Given the description of an element on the screen output the (x, y) to click on. 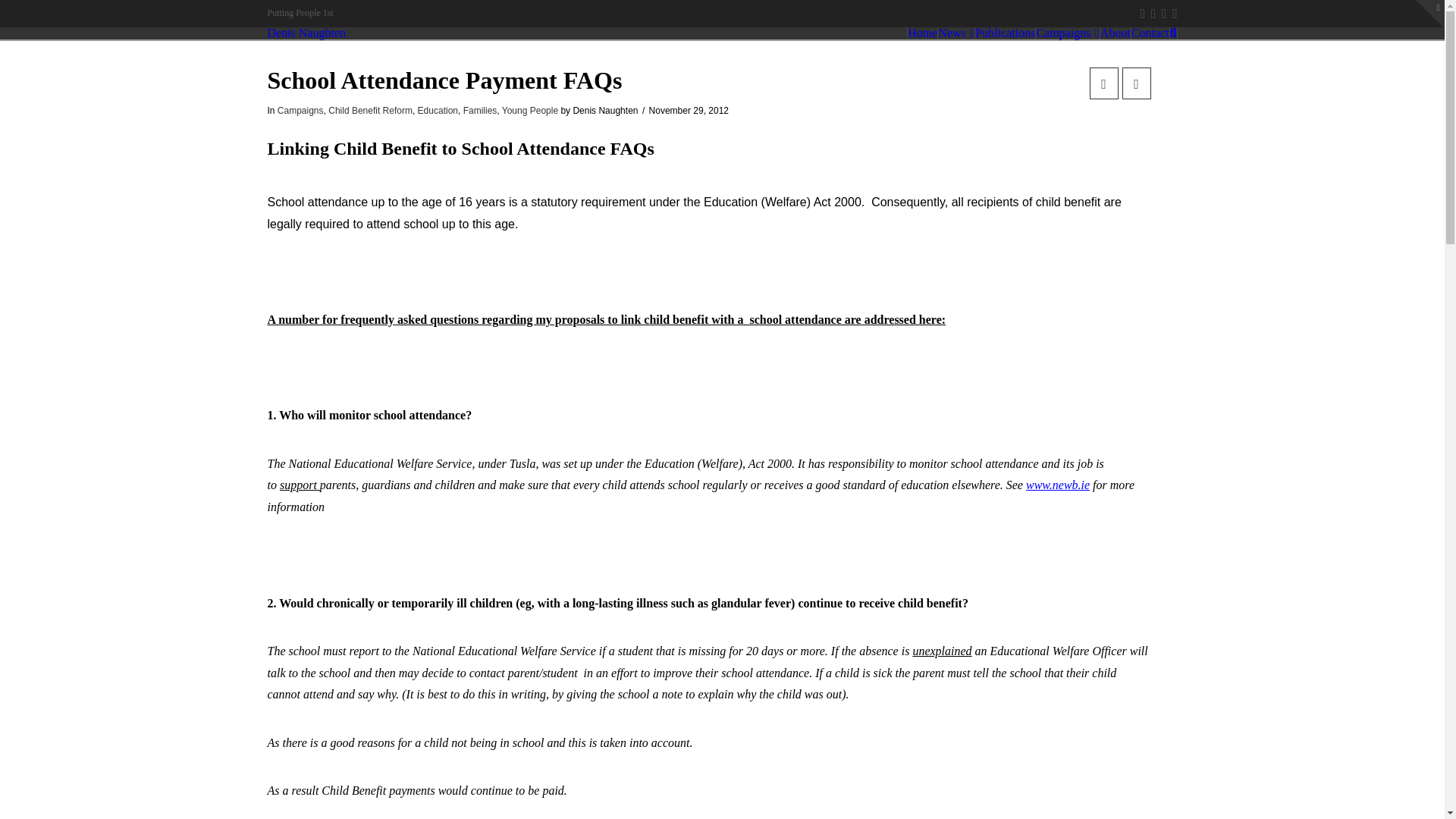
Campaigns (1067, 33)
About (1115, 33)
Publications (1005, 33)
News (956, 33)
www.DenisNaughten.ie (306, 33)
Denis Naughten (306, 33)
Home (922, 33)
